Given the description of an element on the screen output the (x, y) to click on. 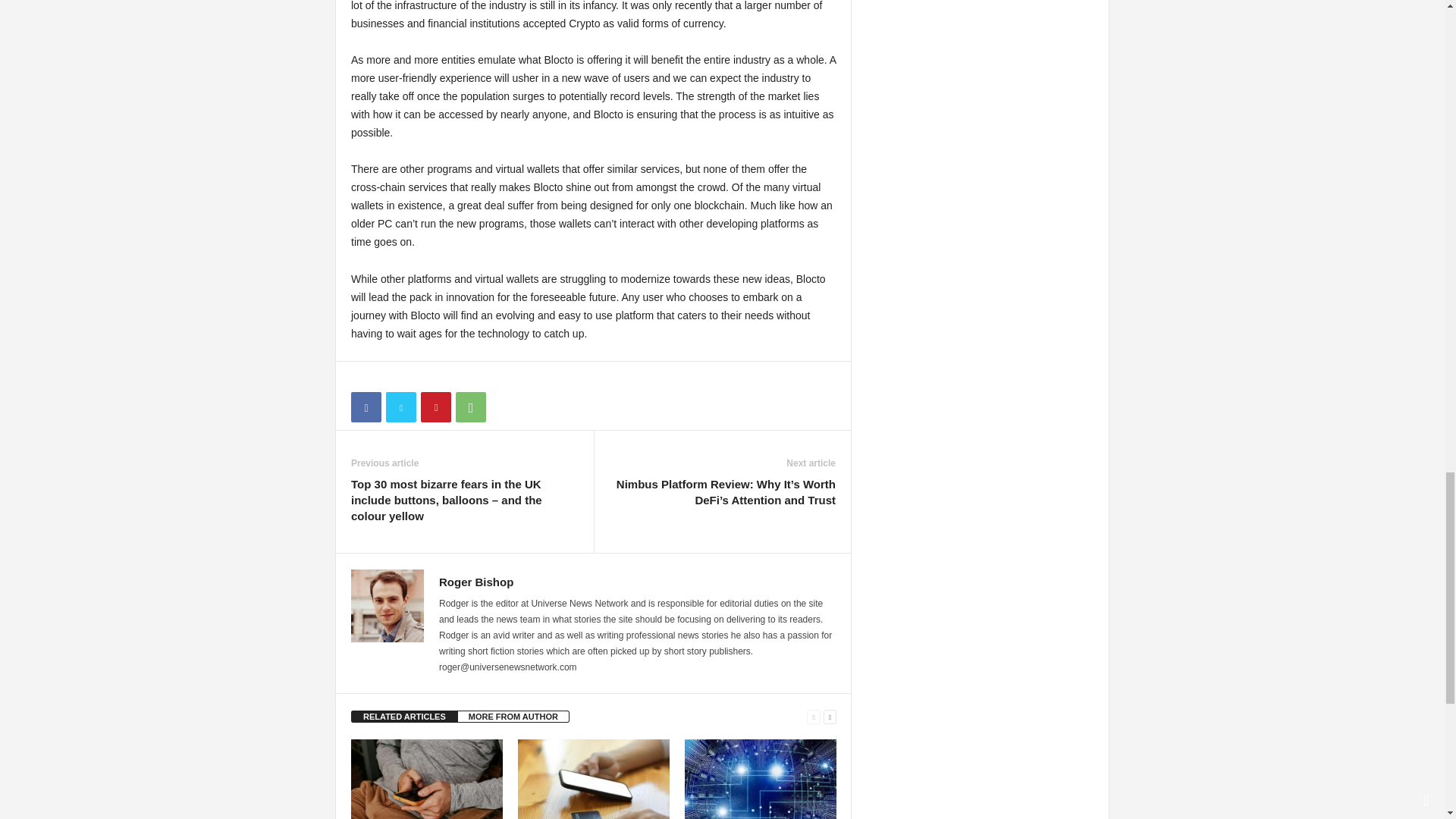
Twitter (400, 407)
Facebook (365, 407)
Pinterest (435, 407)
Roger Bishop (476, 581)
bottomFacebookLike (390, 376)
